Given the description of an element on the screen output the (x, y) to click on. 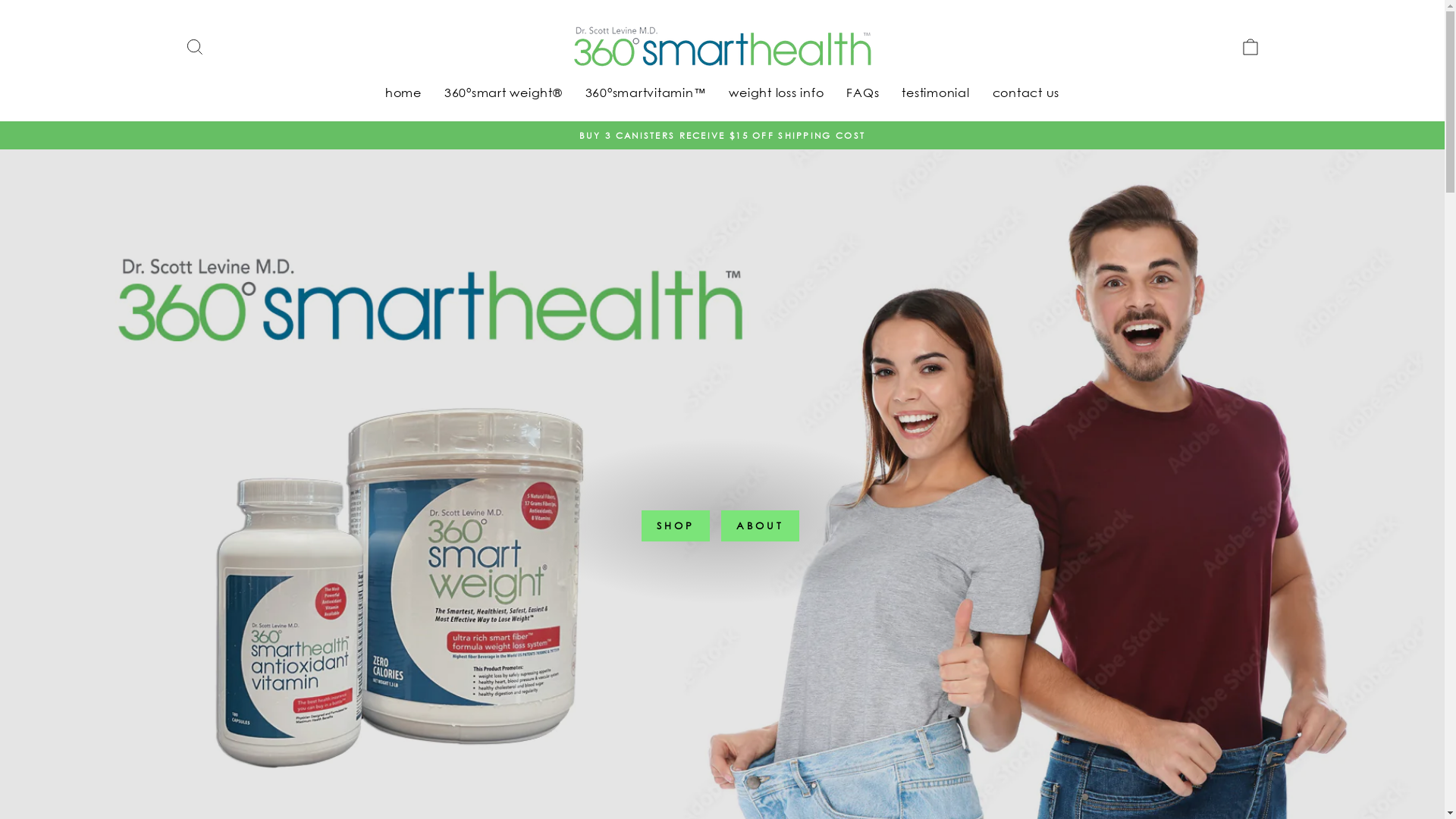
Skip to content Element type: text (0, 0)
ABOUT Element type: text (760, 525)
home Element type: text (403, 92)
SHOP Element type: text (675, 525)
Search Element type: text (193, 46)
FAQs Element type: text (862, 92)
weight loss info Element type: text (775, 92)
testimonial Element type: text (935, 92)
Cart Element type: text (1249, 46)
contact us Element type: text (1026, 92)
